Given the description of an element on the screen output the (x, y) to click on. 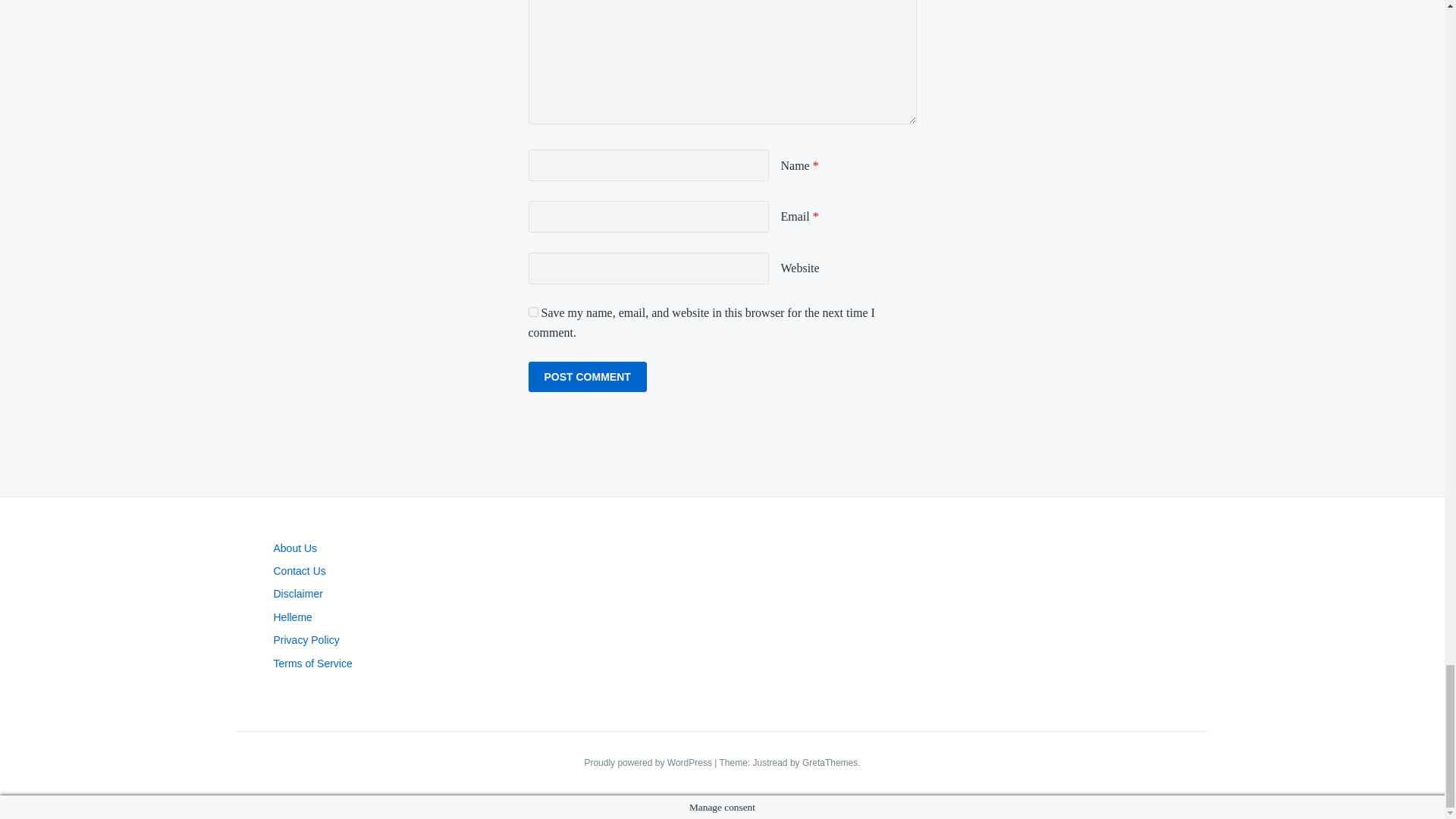
About Us (295, 548)
Terms of Service (312, 663)
Disclaimer (297, 593)
Post Comment (586, 376)
Contact Us (298, 571)
yes (532, 311)
Post Comment (586, 376)
GretaThemes (829, 762)
Privacy Policy (306, 639)
Proudly powered by WordPress (648, 762)
Helleme (292, 616)
